Given the description of an element on the screen output the (x, y) to click on. 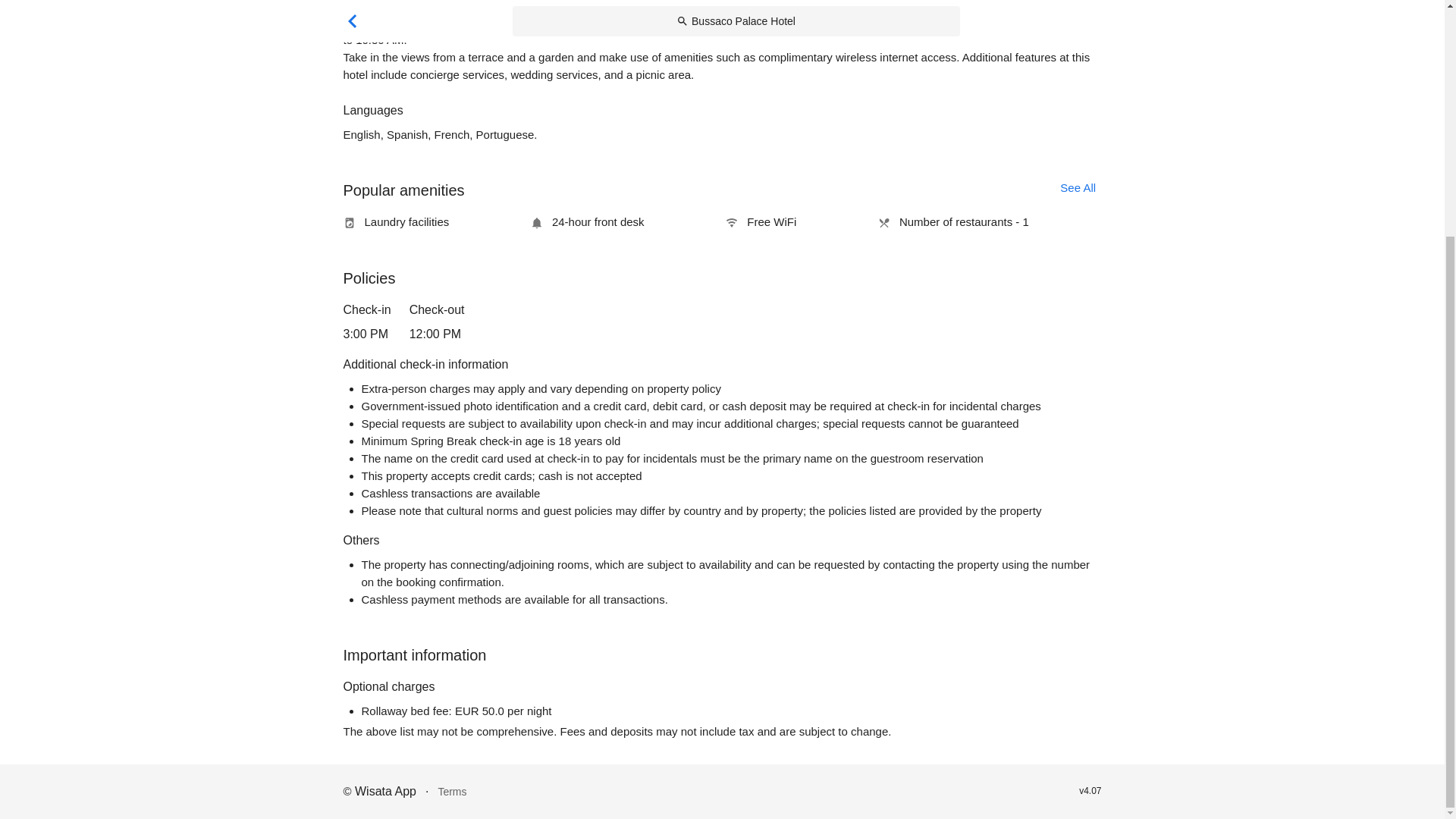
Terms (451, 791)
See All (1078, 187)
